Given the description of an element on the screen output the (x, y) to click on. 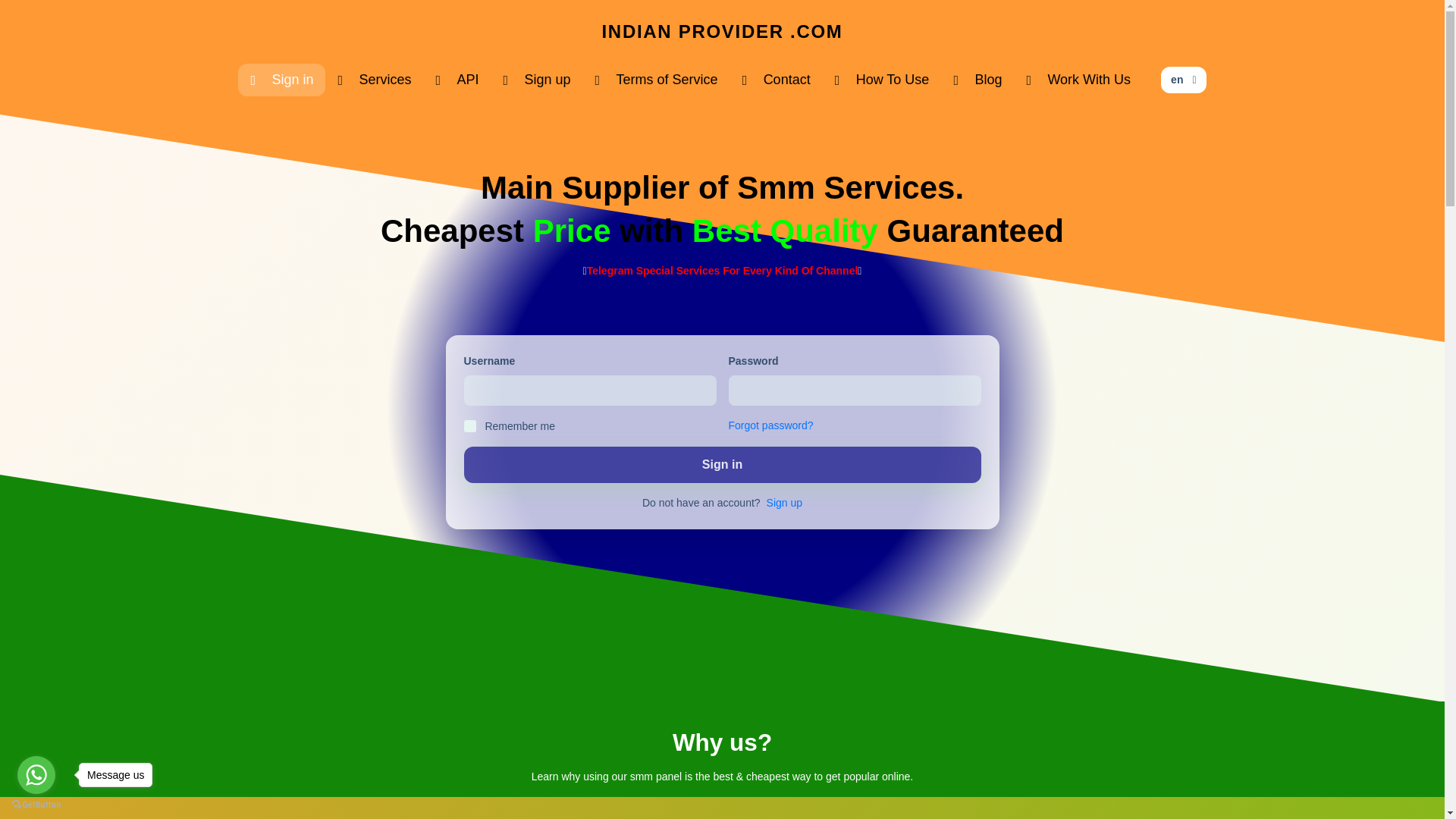
Services (373, 79)
Sign up (784, 503)
Contact (776, 79)
Message us (114, 774)
How To Use (882, 79)
Work With Us (1077, 79)
Blog (976, 79)
Sign in (722, 464)
Sign in (281, 79)
Terms of Service (656, 79)
API (456, 79)
Forgot password? (770, 425)
Sign up (537, 79)
